Given the description of an element on the screen output the (x, y) to click on. 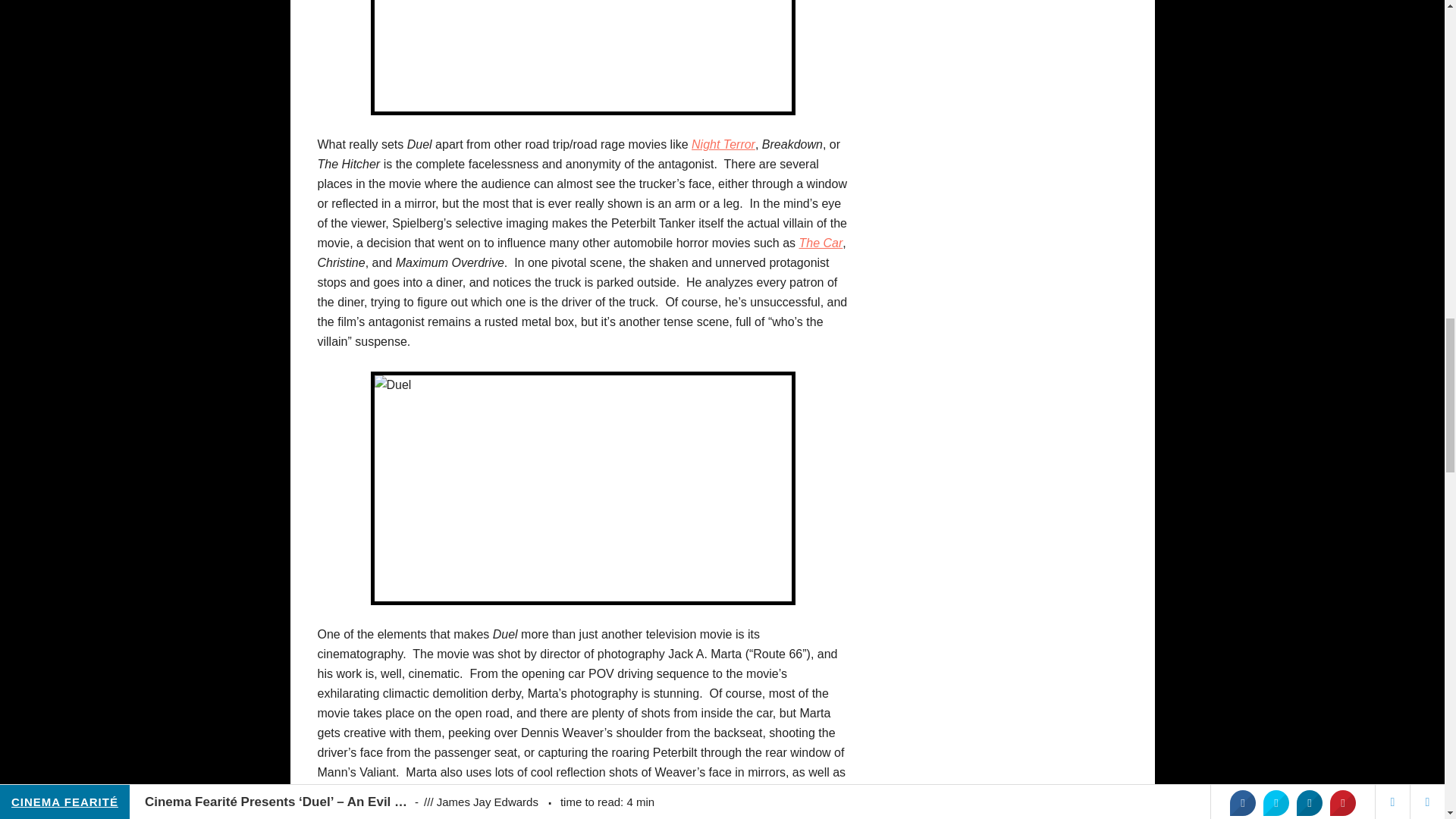
Duel (581, 57)
The Car (821, 242)
Night Terror (723, 144)
Duel (581, 488)
